Given the description of an element on the screen output the (x, y) to click on. 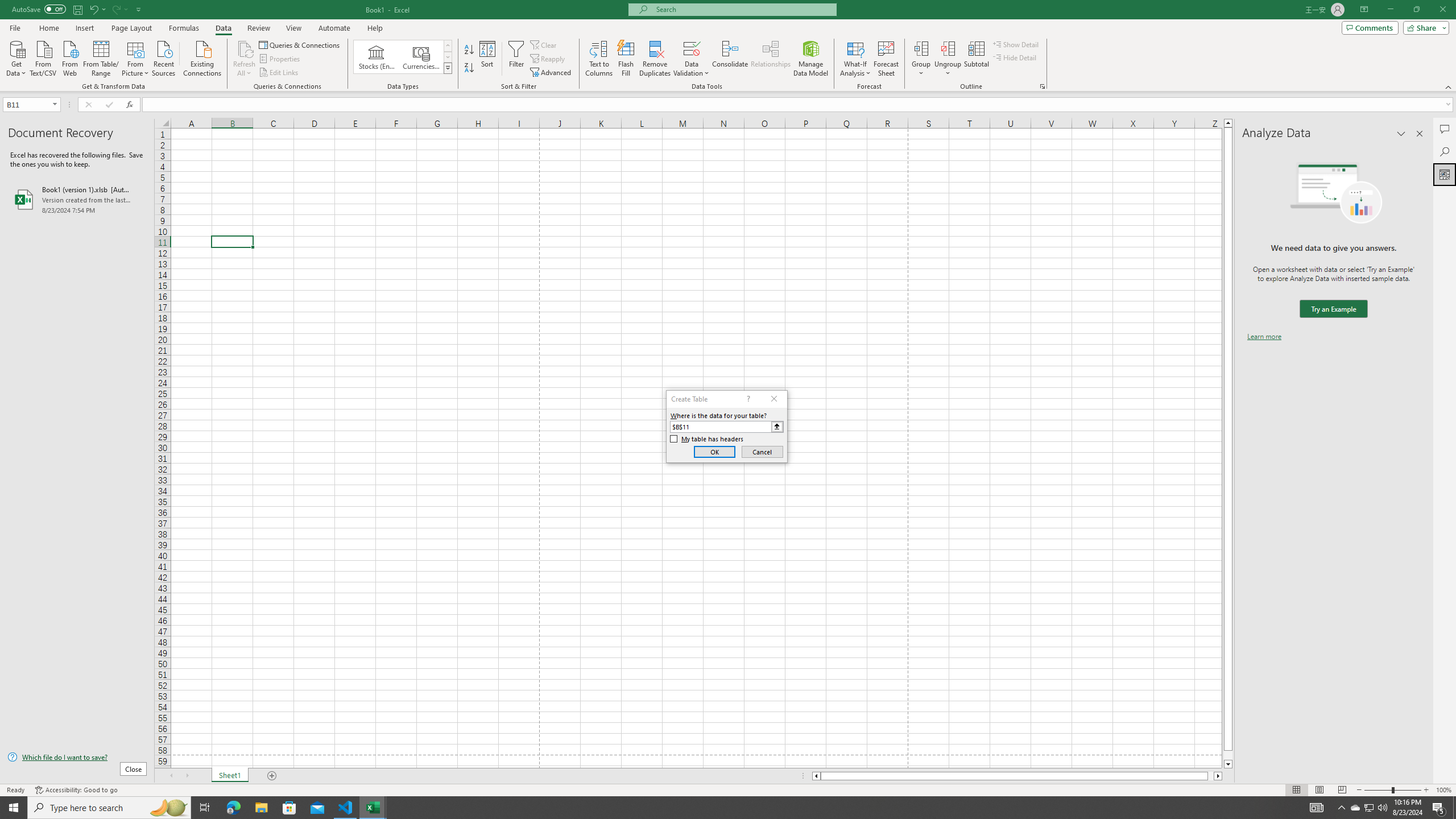
Flash Fill (625, 58)
Class: NetUIImage (447, 68)
